Given the description of an element on the screen output the (x, y) to click on. 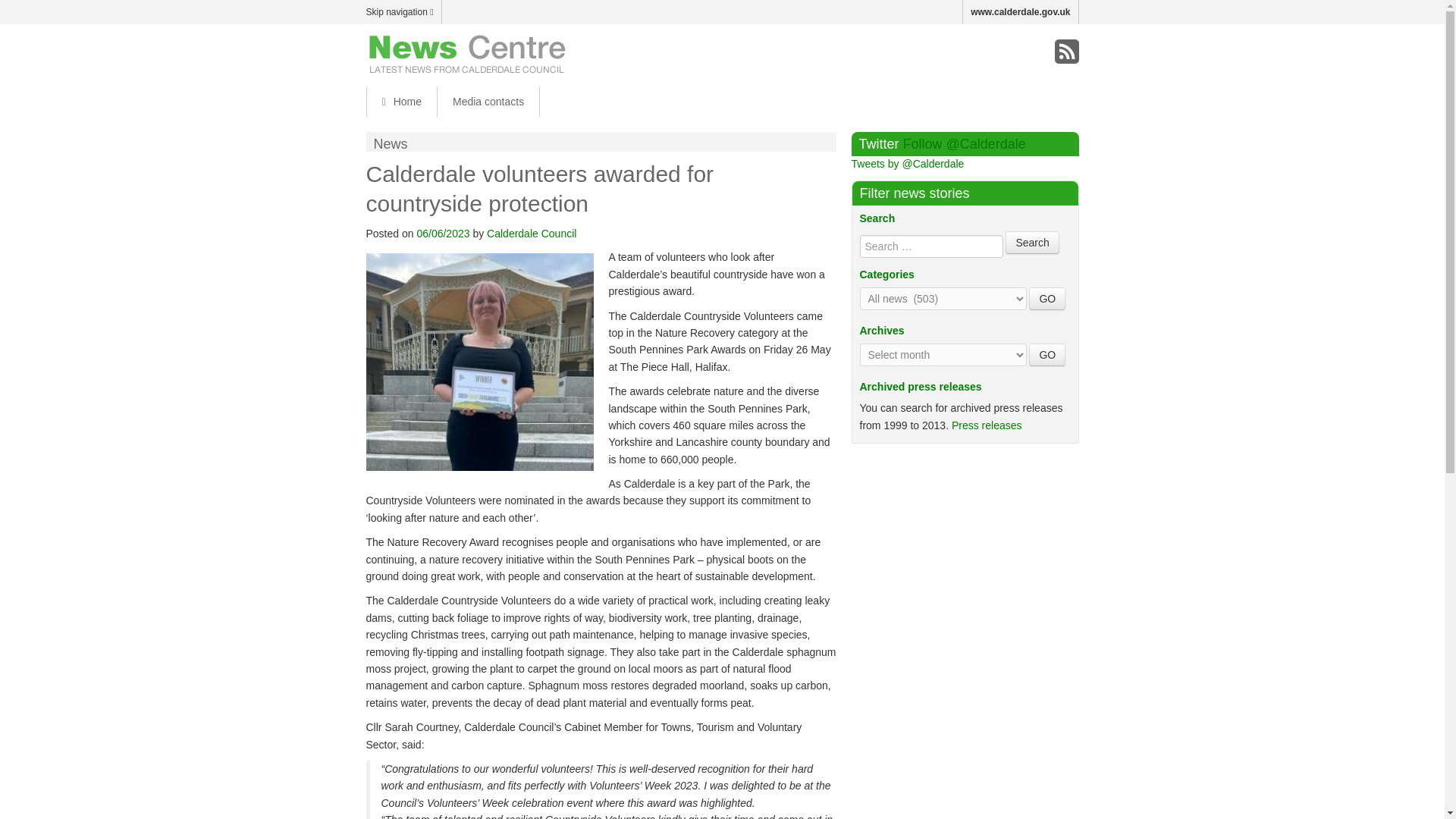
GO (1047, 298)
Home (400, 101)
Home (400, 101)
Skip navigation (403, 12)
Press releases (987, 425)
GO (1047, 354)
Twitter (1034, 51)
Facebook (1002, 51)
Search (1032, 241)
4:39 pm (442, 233)
Media contacts (489, 101)
View all posts by Calderdale Council (531, 233)
GO (1047, 298)
RSS (1066, 51)
www.calderdale.gov.uk (1020, 12)
